Given the description of an element on the screen output the (x, y) to click on. 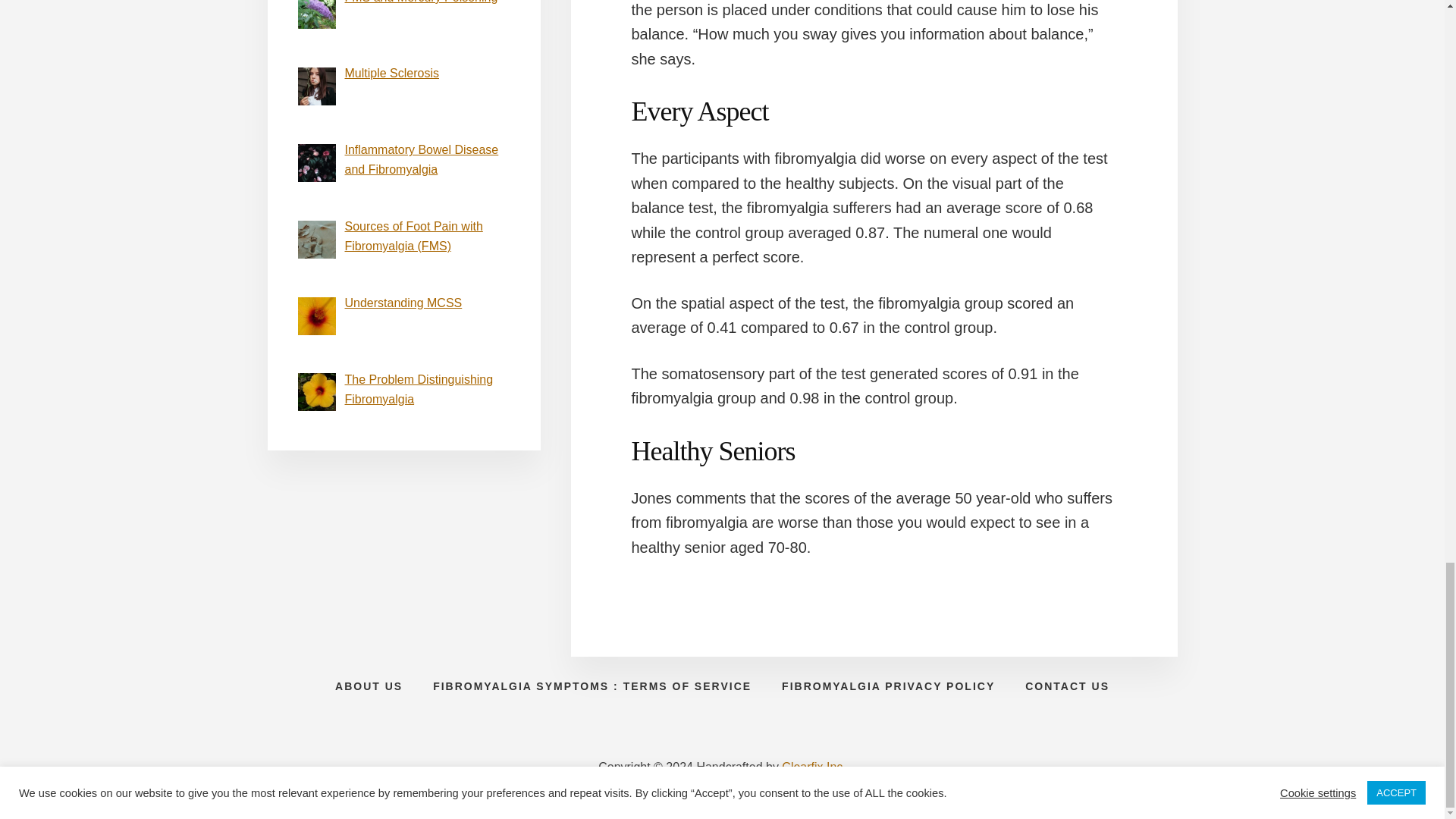
Multiple Sclerosis (390, 72)
Inflammatory Bowel Disease and Fibromyalgia (420, 159)
Understanding MCSS (402, 302)
FMS and Mercury Poisoning (420, 2)
